Given the description of an element on the screen output the (x, y) to click on. 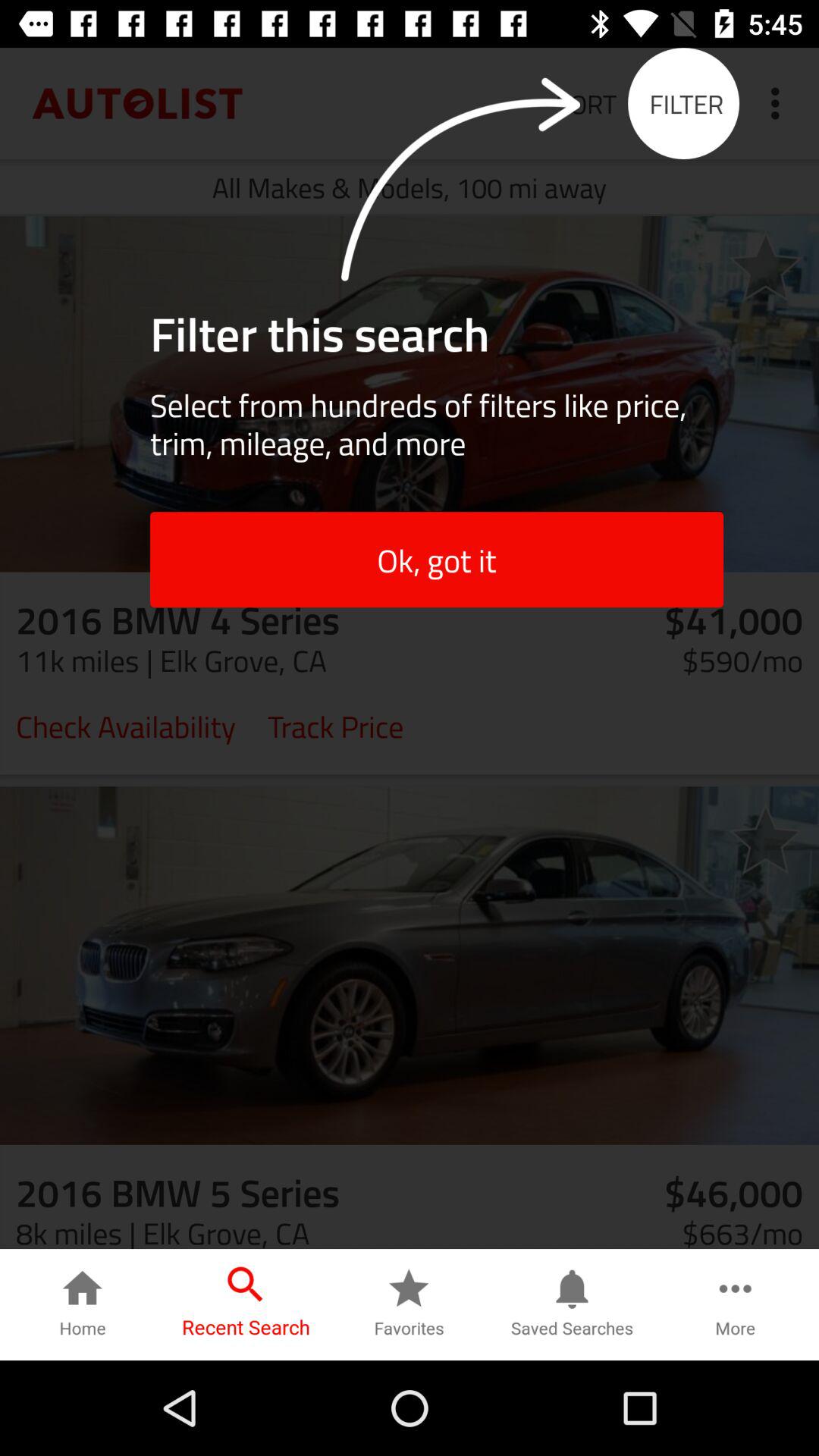
tap icon to the left of $590/mo (335, 725)
